Given the description of an element on the screen output the (x, y) to click on. 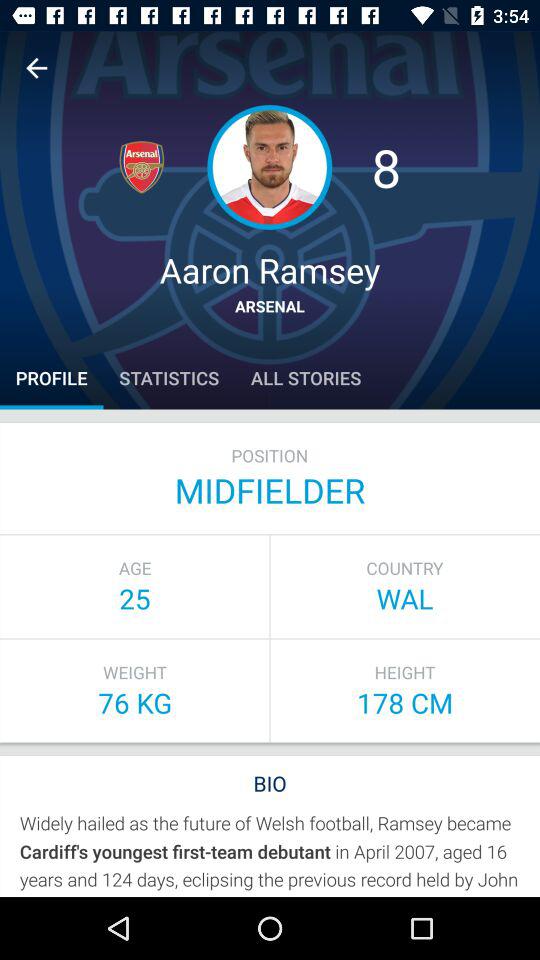
back one (36, 68)
